Given the description of an element on the screen output the (x, y) to click on. 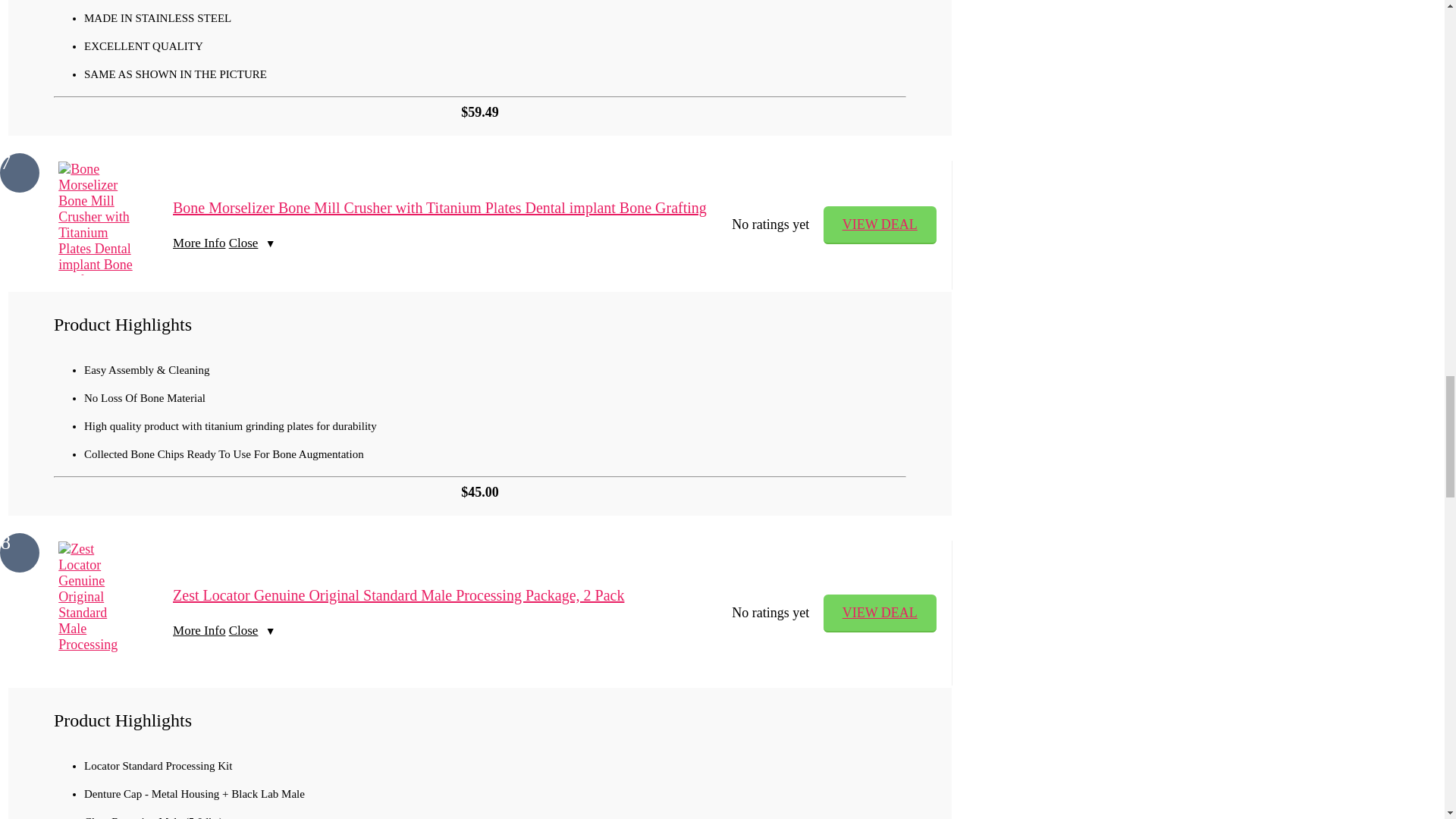
VIEW DEAL (880, 613)
VIEW DEAL (880, 225)
